Given the description of an element on the screen output the (x, y) to click on. 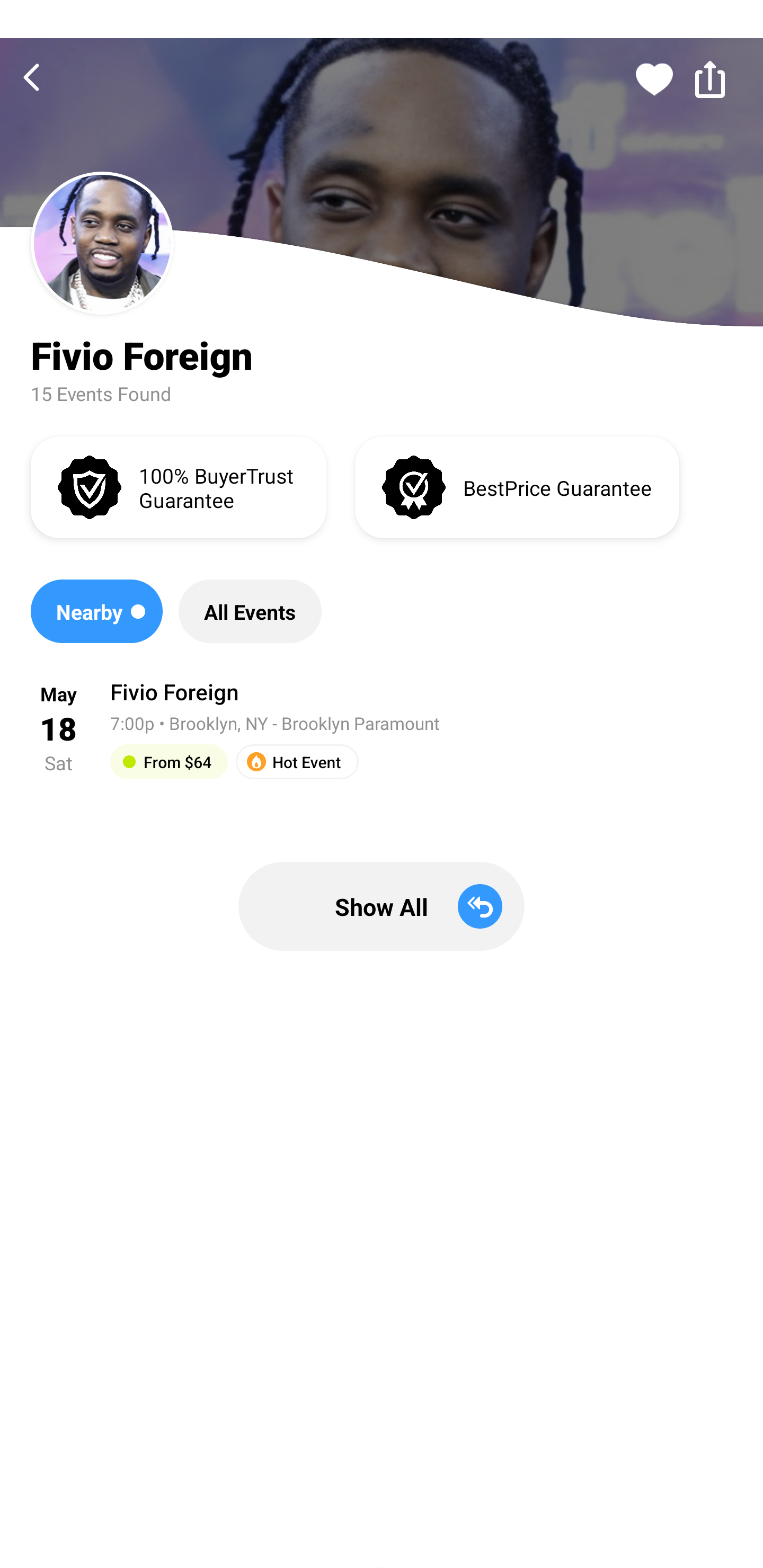
100% BuyerTrust Guarantee (178, 486)
BestPrice Guarantee (516, 486)
Nearby (96, 611)
All Events (249, 611)
Show All (381, 906)
